Given the description of an element on the screen output the (x, y) to click on. 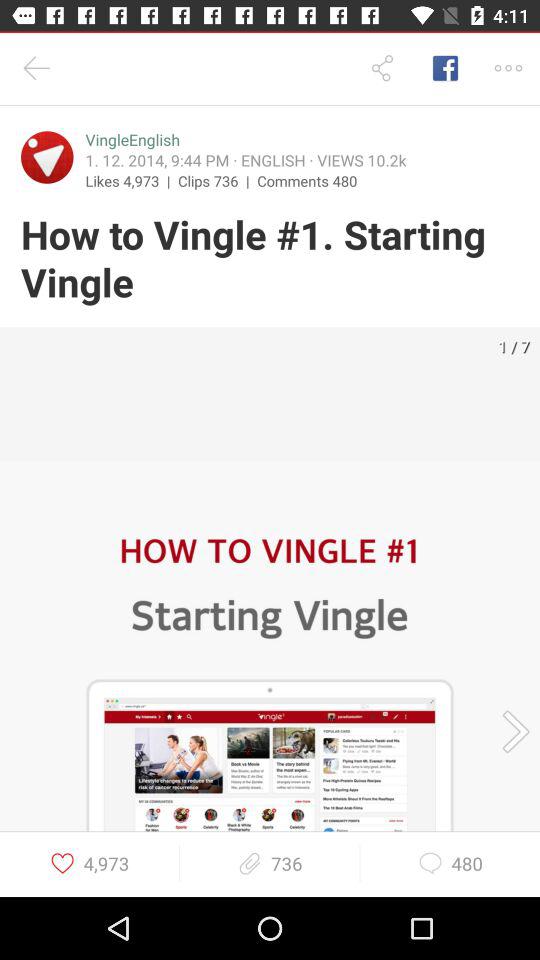
scroll to the vingleenglish icon (132, 140)
